Given the description of an element on the screen output the (x, y) to click on. 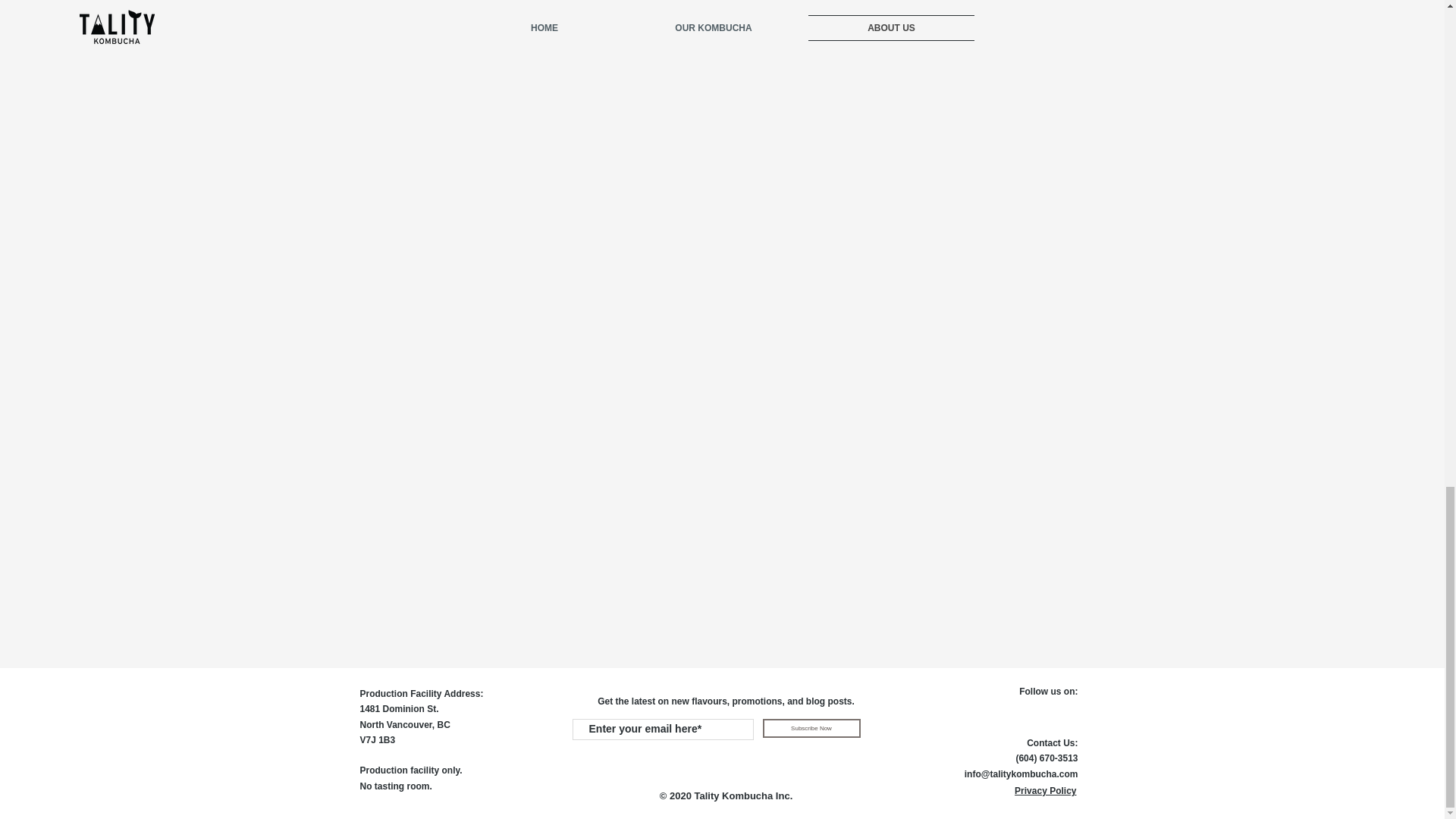
Subscribe Now (811, 728)
Privacy Policy (1044, 790)
